Given the description of an element on the screen output the (x, y) to click on. 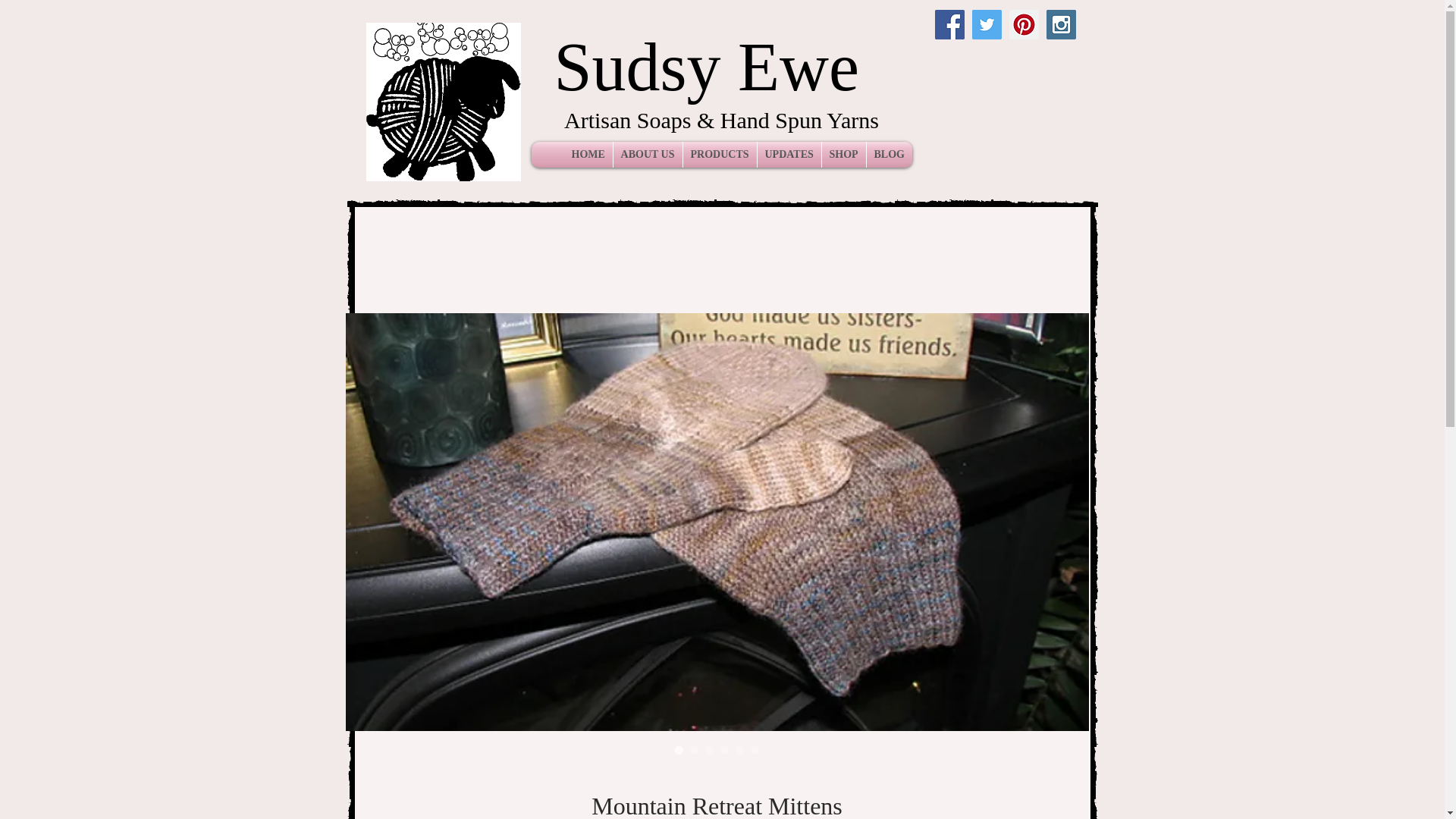
SudsyEwe NoText.gif (442, 101)
BLOG (888, 154)
ABOUT US (646, 154)
HOME (588, 154)
SHOP (844, 154)
UPDATES (789, 154)
PRODUCTS (718, 154)
